Given the description of an element on the screen output the (x, y) to click on. 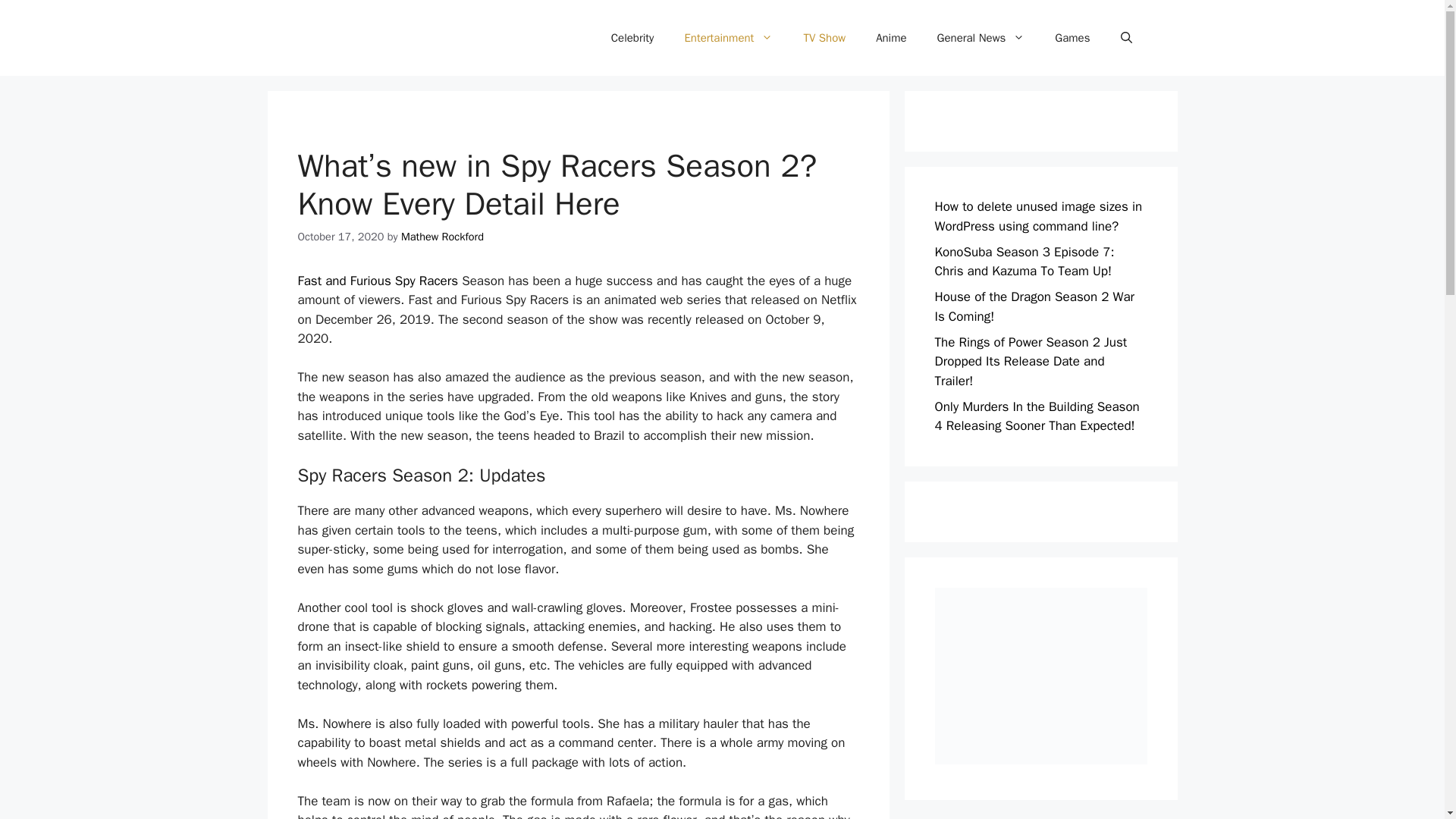
Anime (890, 37)
KonoSuba Season 3 Episode 7: Chris and Kazuma To Team Up! (1023, 262)
View all posts by Mathew Rockford (442, 236)
TV Show (823, 37)
Celebrity (632, 37)
Games (1072, 37)
Entertainment (727, 37)
